Given the description of an element on the screen output the (x, y) to click on. 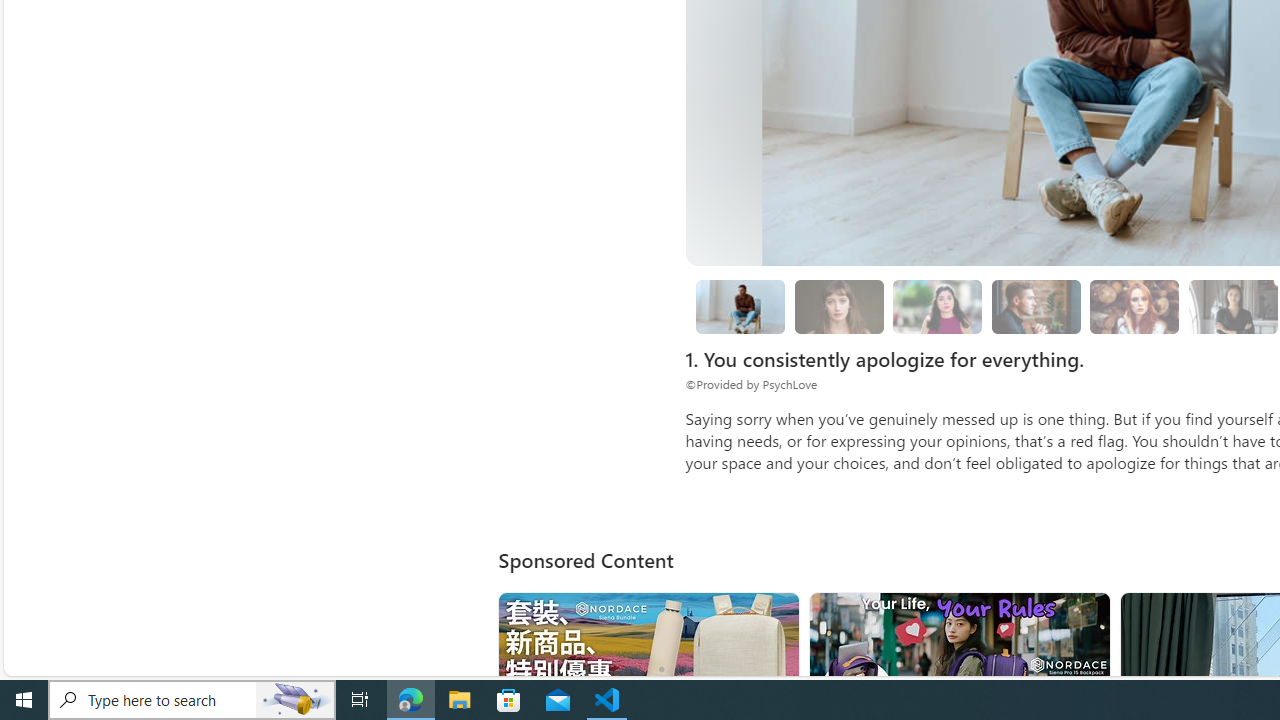
4. You can name and understand your feelings. (938, 307)
4. You can name and understand your feelings. (937, 306)
Class: progress (1134, 303)
3. Put some thought into it. (740, 306)
8. Surround yourself with solution-oriented people. (1232, 307)
3. Put some thought into it. (740, 307)
